Given the description of an element on the screen output the (x, y) to click on. 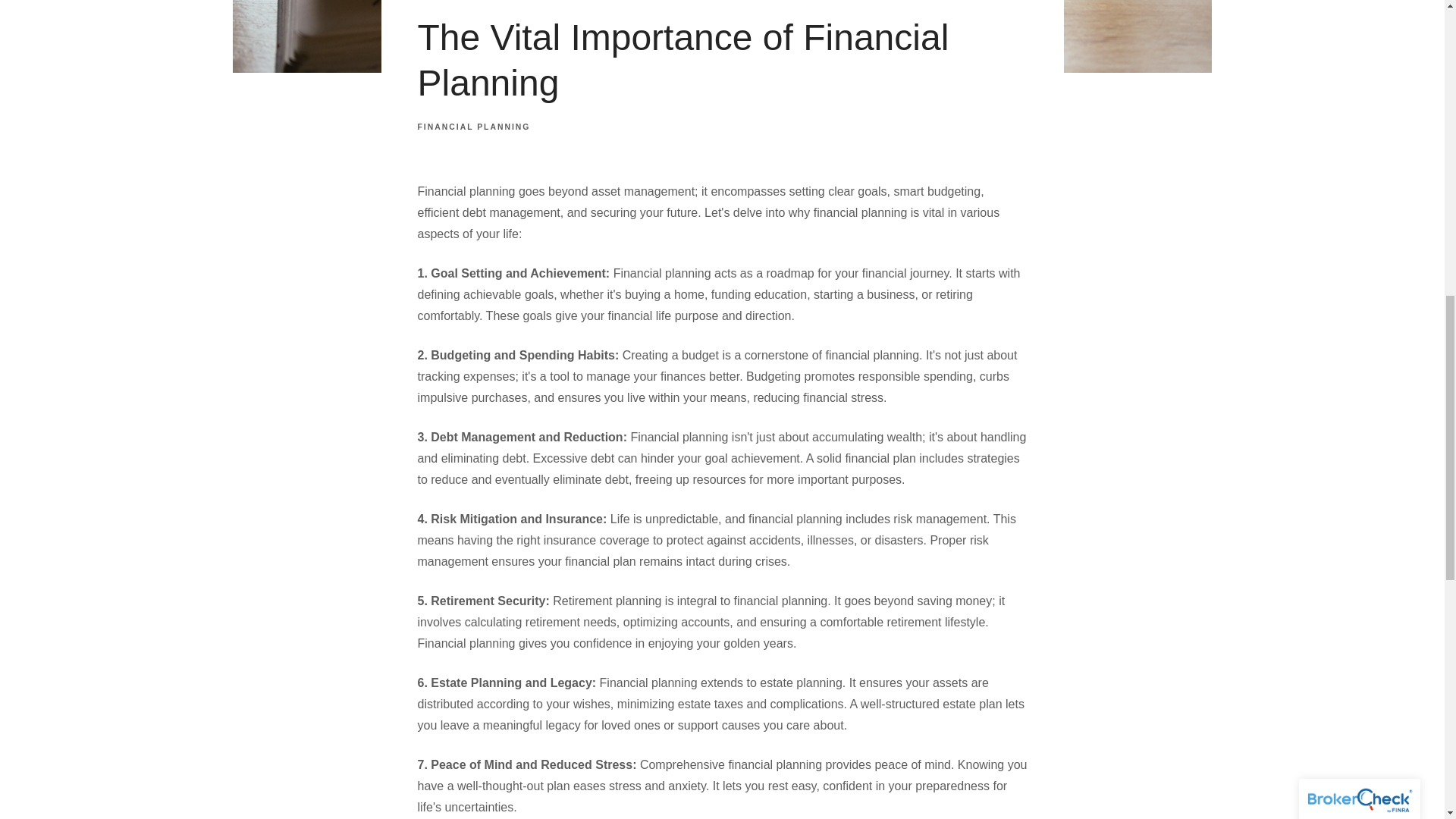
FINANCIAL PLANNING (472, 126)
